Given the description of an element on the screen output the (x, y) to click on. 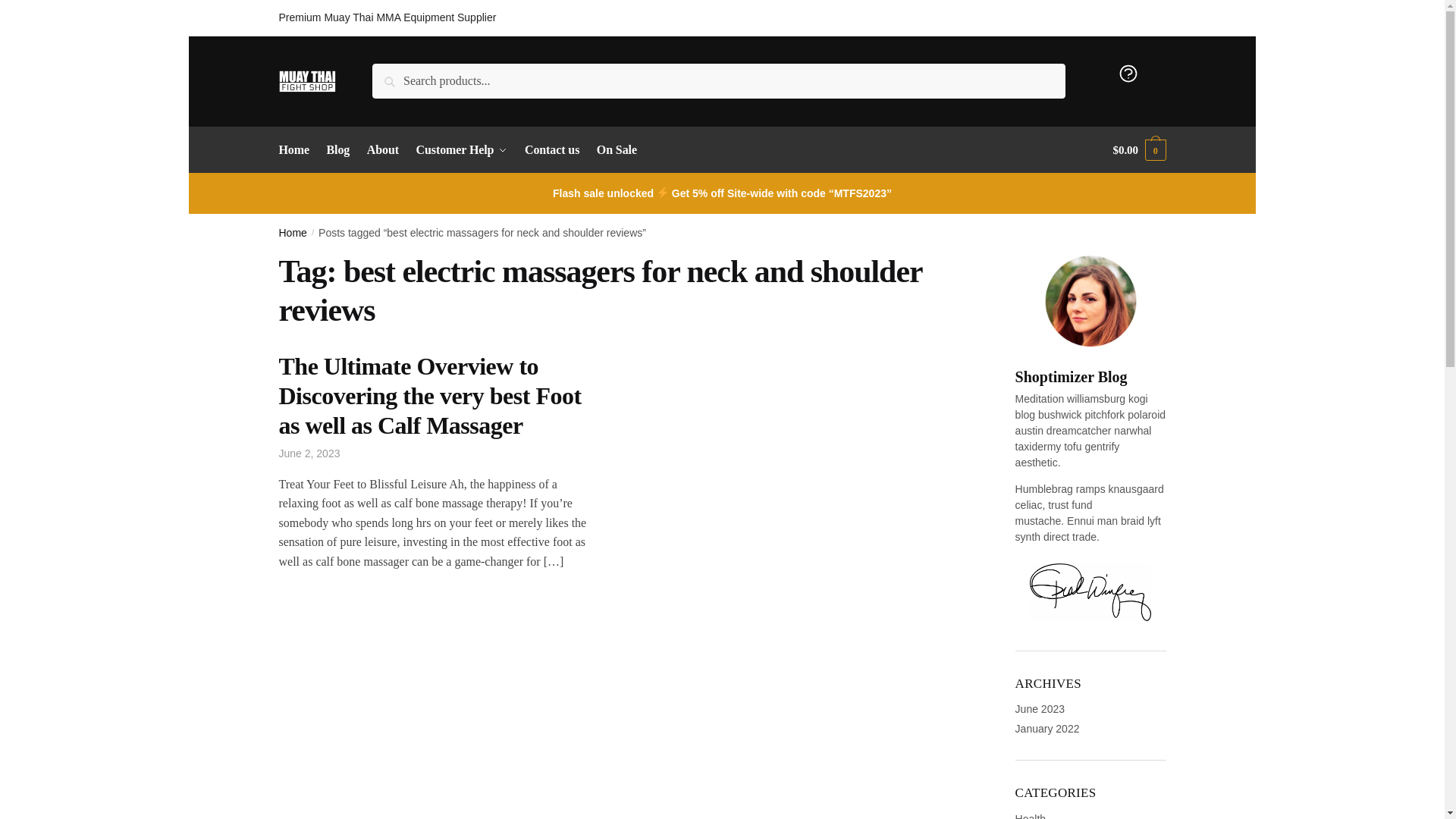
Customer Help (461, 149)
Health (1029, 816)
Customer Help (1128, 80)
About (382, 149)
Search (393, 74)
On Sale (616, 149)
Contact us (552, 149)
June 2023 (1039, 708)
Home (293, 232)
View your shopping cart (1139, 149)
January 2022 (1047, 728)
EMAIL US (1141, 17)
